Given the description of an element on the screen output the (x, y) to click on. 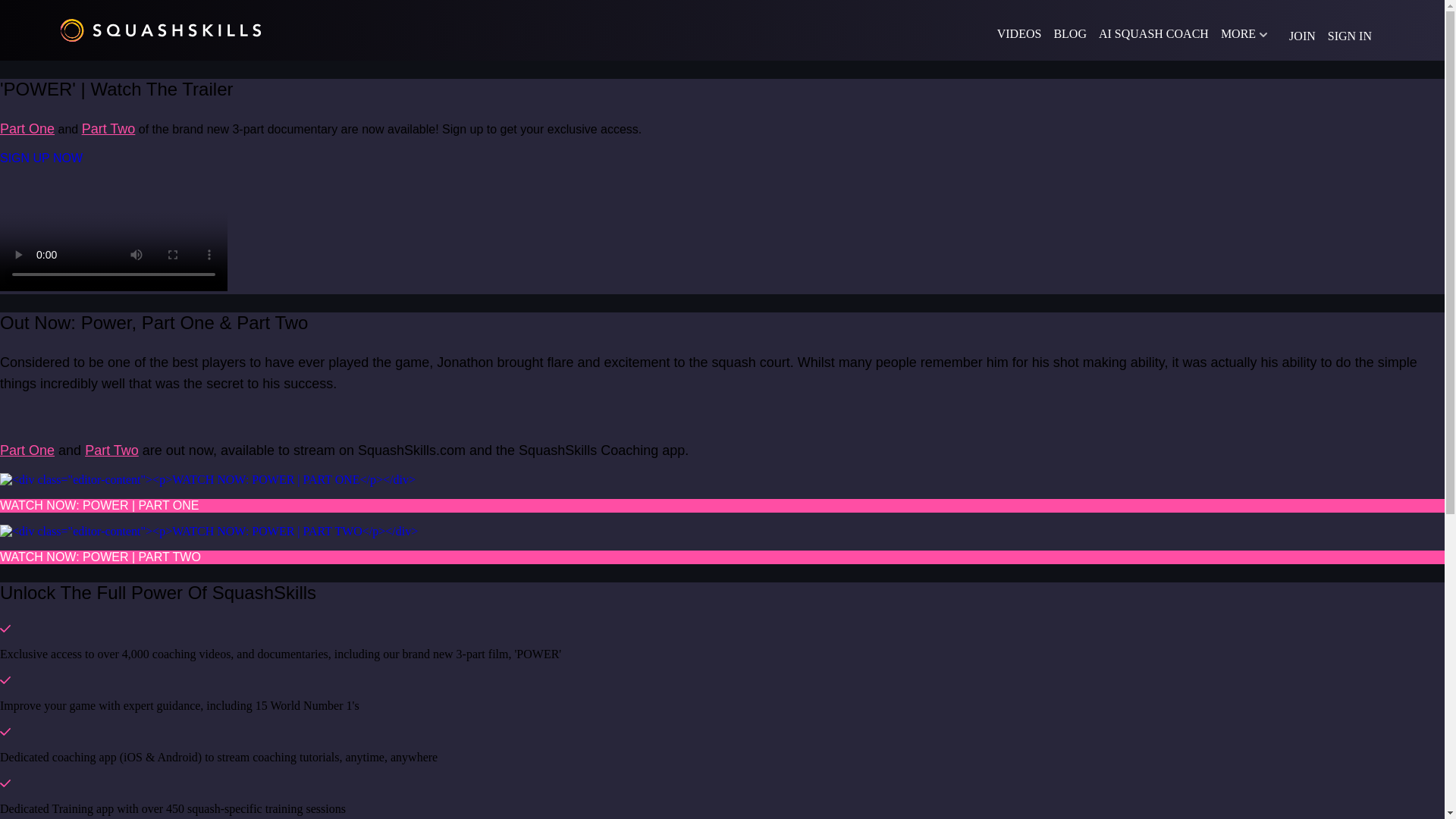
Part One (27, 450)
Part One (27, 128)
Part Two (108, 128)
BLOG (1069, 33)
AI SQUASH COACH (1153, 33)
JOIN (1302, 35)
SIGN IN (1349, 35)
VIDEOS (1019, 33)
Part Two (111, 450)
